Given the description of an element on the screen output the (x, y) to click on. 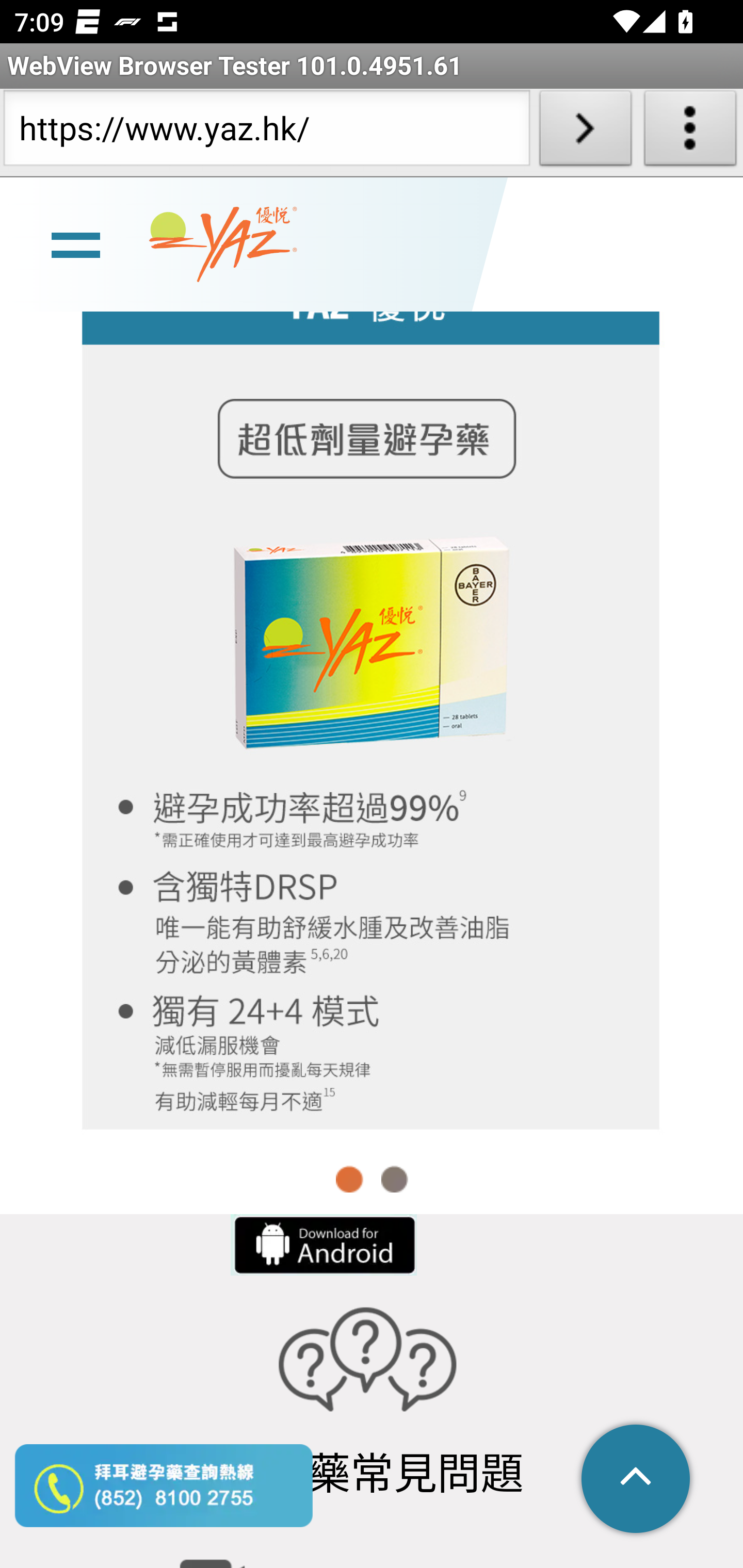
https://www.yaz.hk/ (266, 132)
Load URL (585, 132)
About WebView (690, 132)
www.yaz (222, 244)
line Toggle burger menu (75, 242)
slide 1 (371, 688)
1 of 2 (349, 1179)
2 of 2 (393, 1179)
details?id=com.bayer.ph (322, 1244)
 (636, 1480)
